Given the description of an element on the screen output the (x, y) to click on. 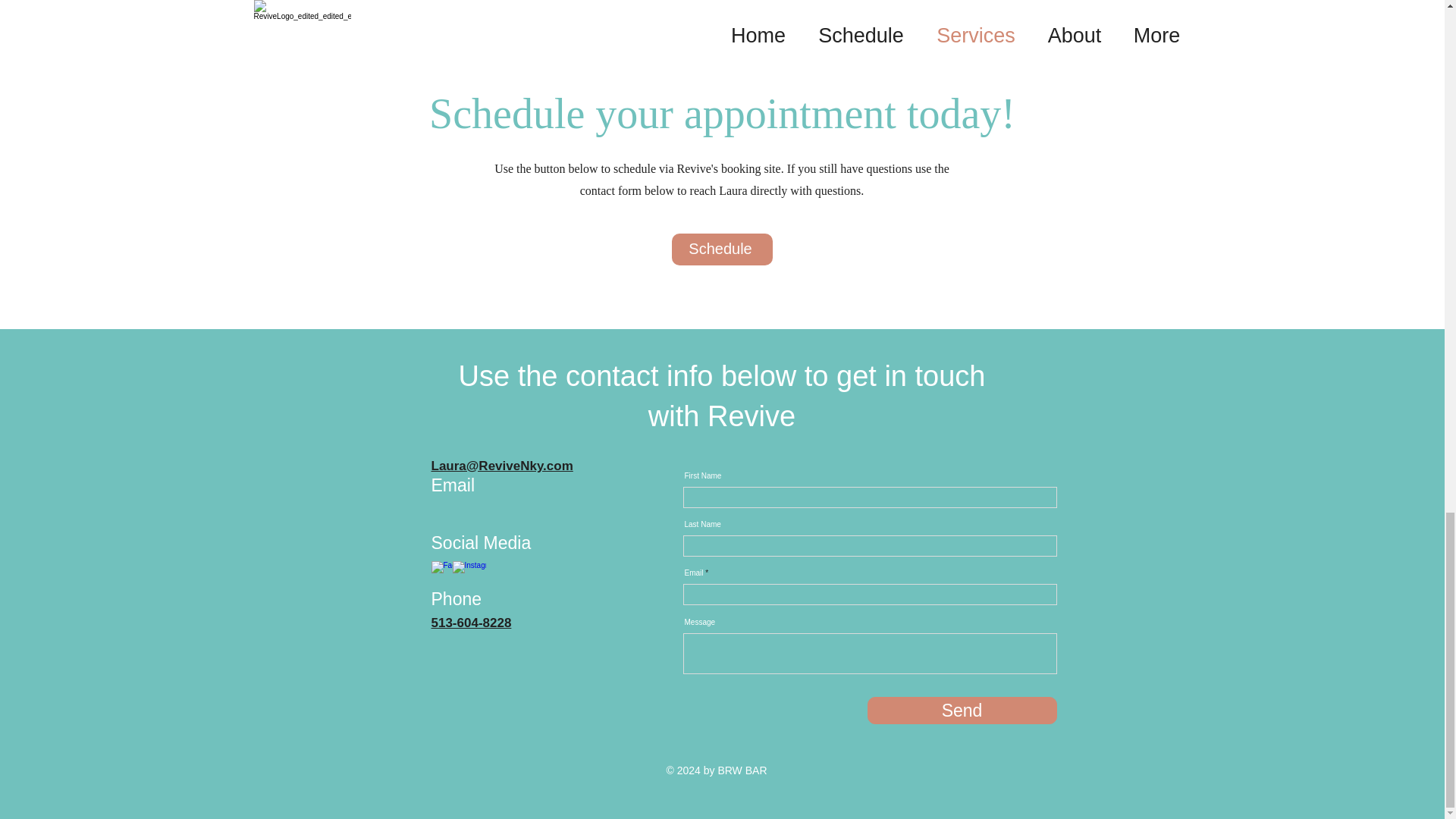
Send (962, 709)
513-604-8228 (470, 622)
Schedule (722, 249)
